Given the description of an element on the screen output the (x, y) to click on. 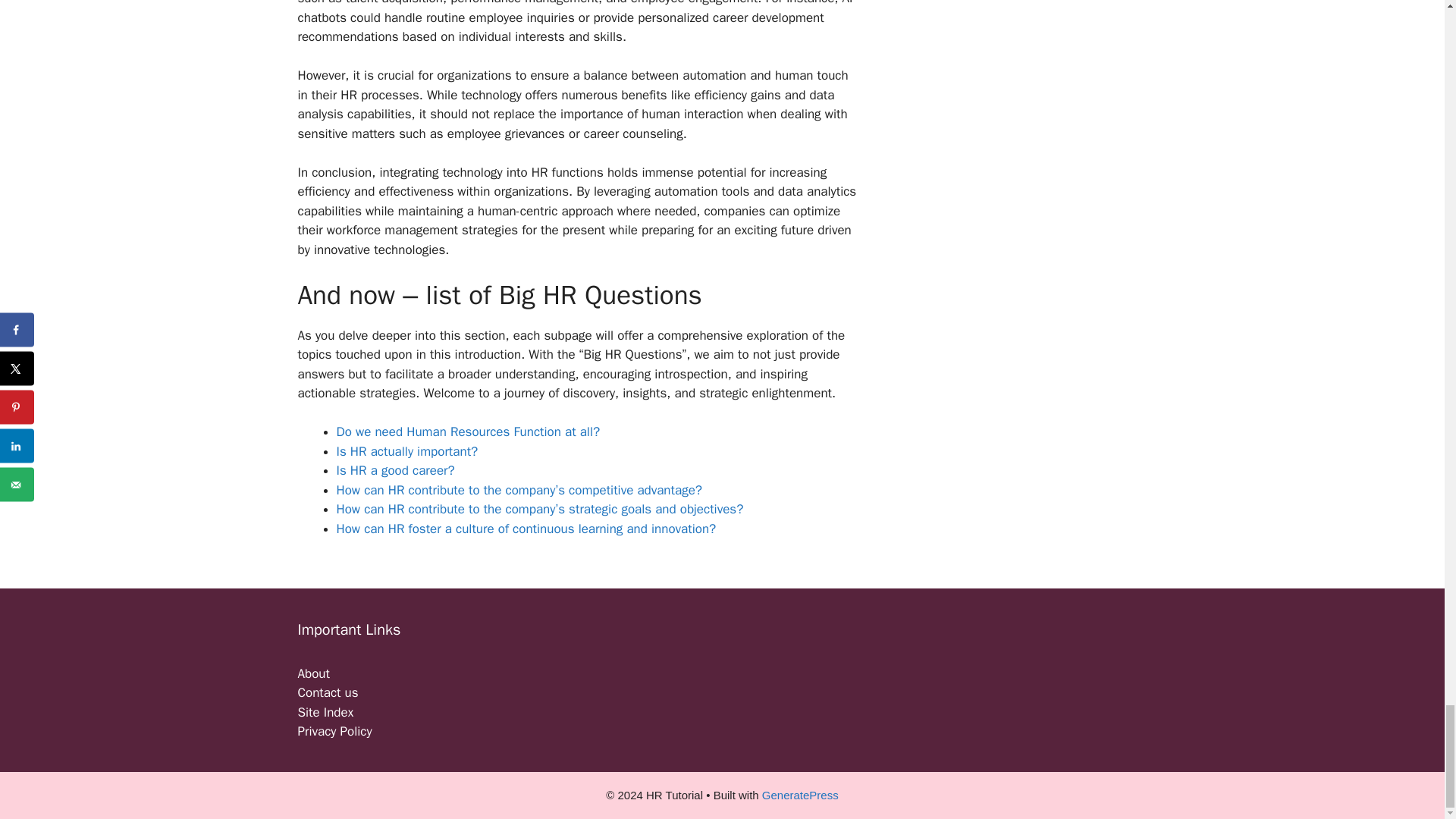
Is HR a good career? (395, 470)
Do we need Human Resources Function at all? (467, 431)
Is HR actually important? (407, 451)
